Given the description of an element on the screen output the (x, y) to click on. 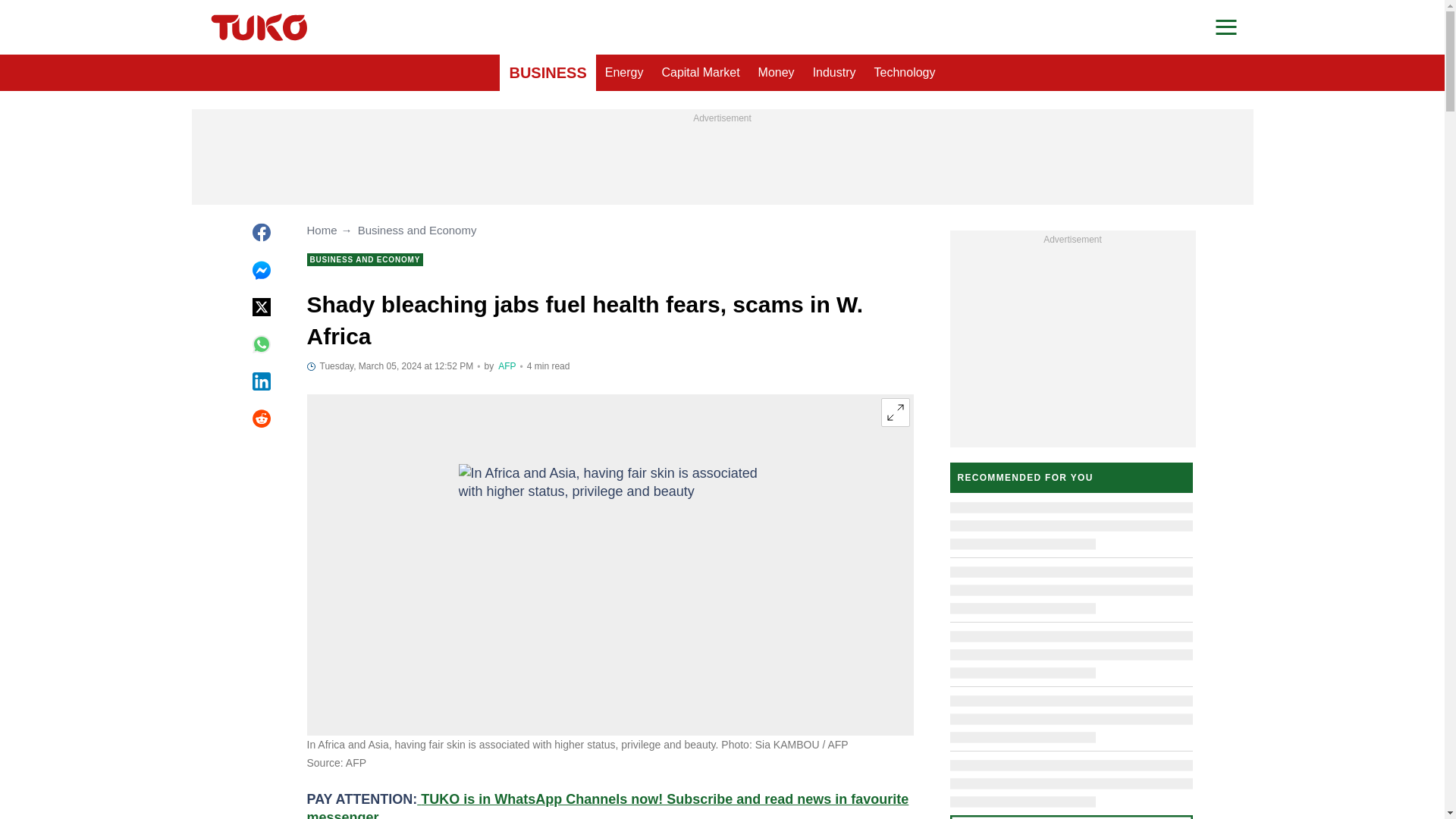
Industry (833, 72)
BUSINESS (547, 72)
Expand image (895, 412)
Money (776, 72)
Energy (623, 72)
Technology (904, 72)
Author page (506, 366)
Capital Market (700, 72)
